Given the description of an element on the screen output the (x, y) to click on. 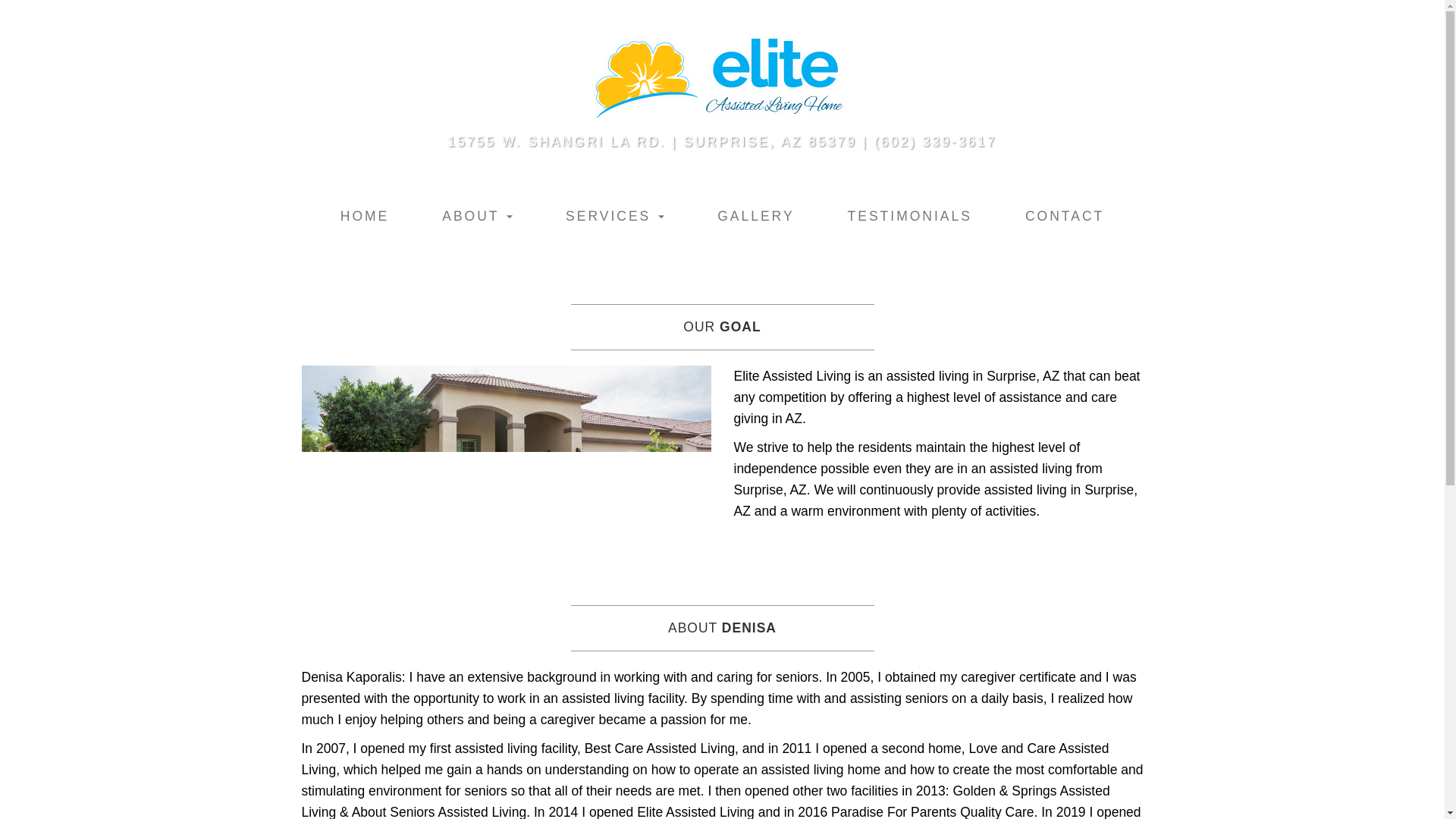
ABOUT (476, 215)
GALLERY (755, 215)
TESTIMONIALS (909, 215)
HOME (365, 215)
SERVICES (614, 215)
CONTACT (1064, 215)
